Given the description of an element on the screen output the (x, y) to click on. 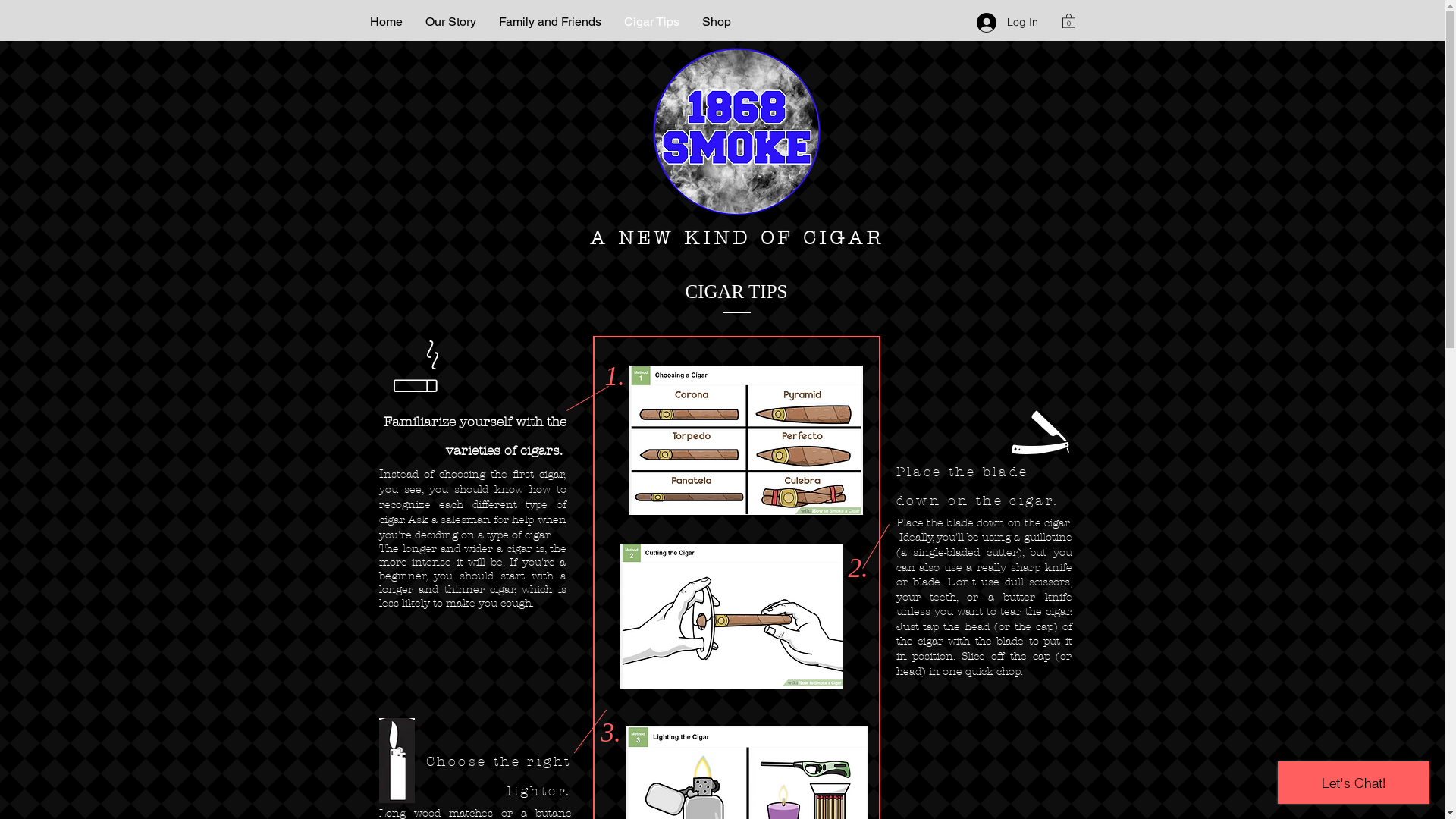
0 Element type: text (1067, 20)
Home Element type: text (385, 21)
Shop Element type: text (715, 21)
Log In Element type: text (1007, 22)
Cigar Tips Element type: text (651, 21)
Family and Friends Element type: text (548, 21)
Our Story Element type: text (450, 21)
